Given the description of an element on the screen output the (x, y) to click on. 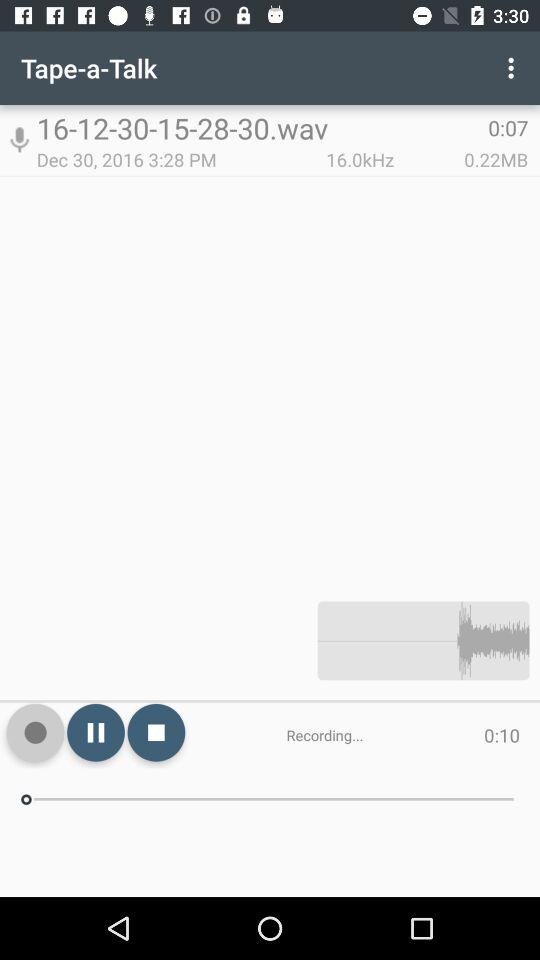
turn off item above 0:07 icon (513, 67)
